Given the description of an element on the screen output the (x, y) to click on. 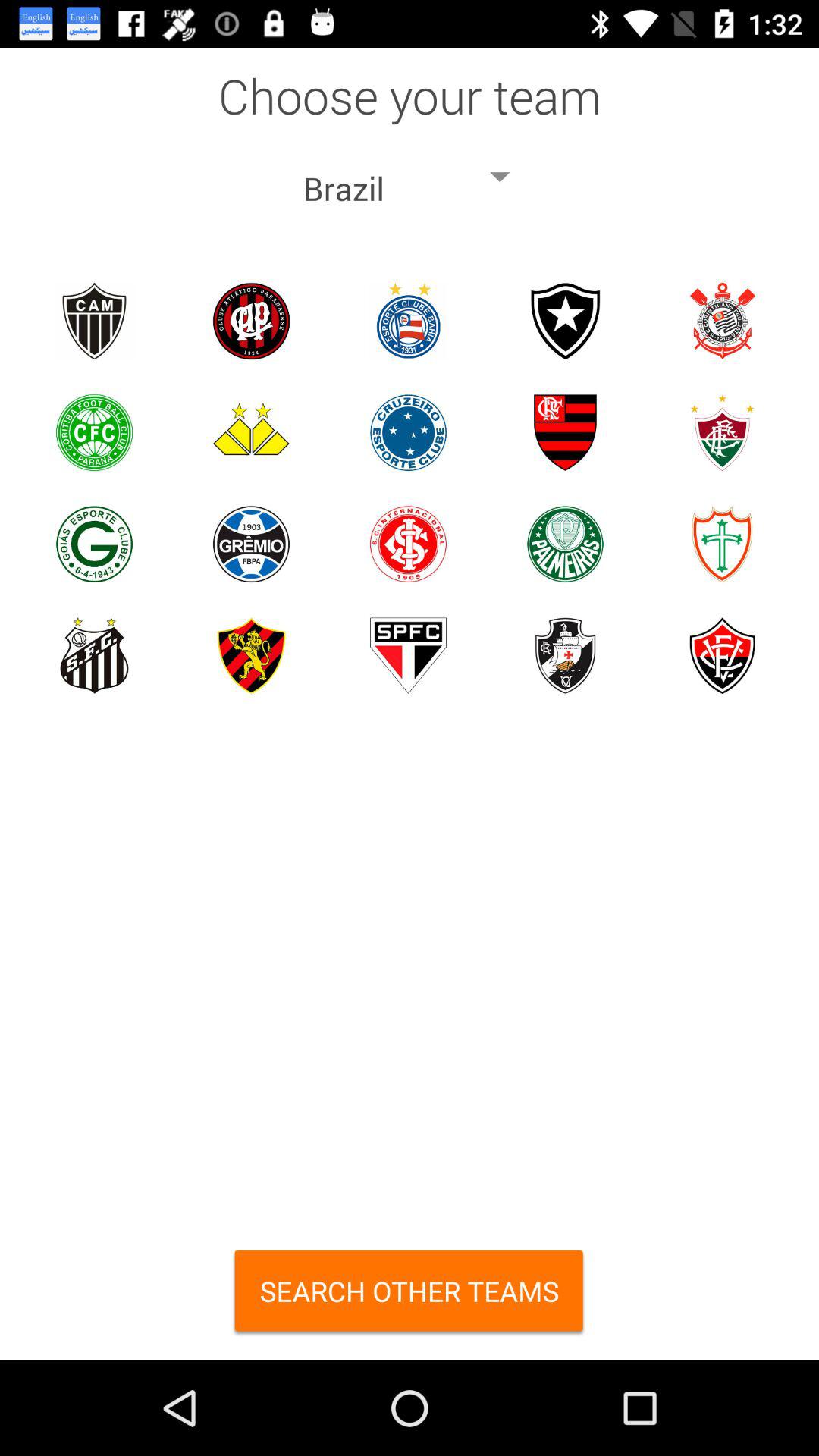
click on orange button (409, 1296)
select the team spfc (407, 655)
select drop down brazil (409, 175)
click on bc international (407, 543)
choose the fourth row last logo (722, 655)
select the icon cruzeiro esporte clube (407, 432)
select the fourth symbol in second row (565, 432)
click on the first logo on the third row (94, 543)
select the first logo from the second row (94, 432)
select the logo which is beside goias esporte (251, 543)
